Given the description of an element on the screen output the (x, y) to click on. 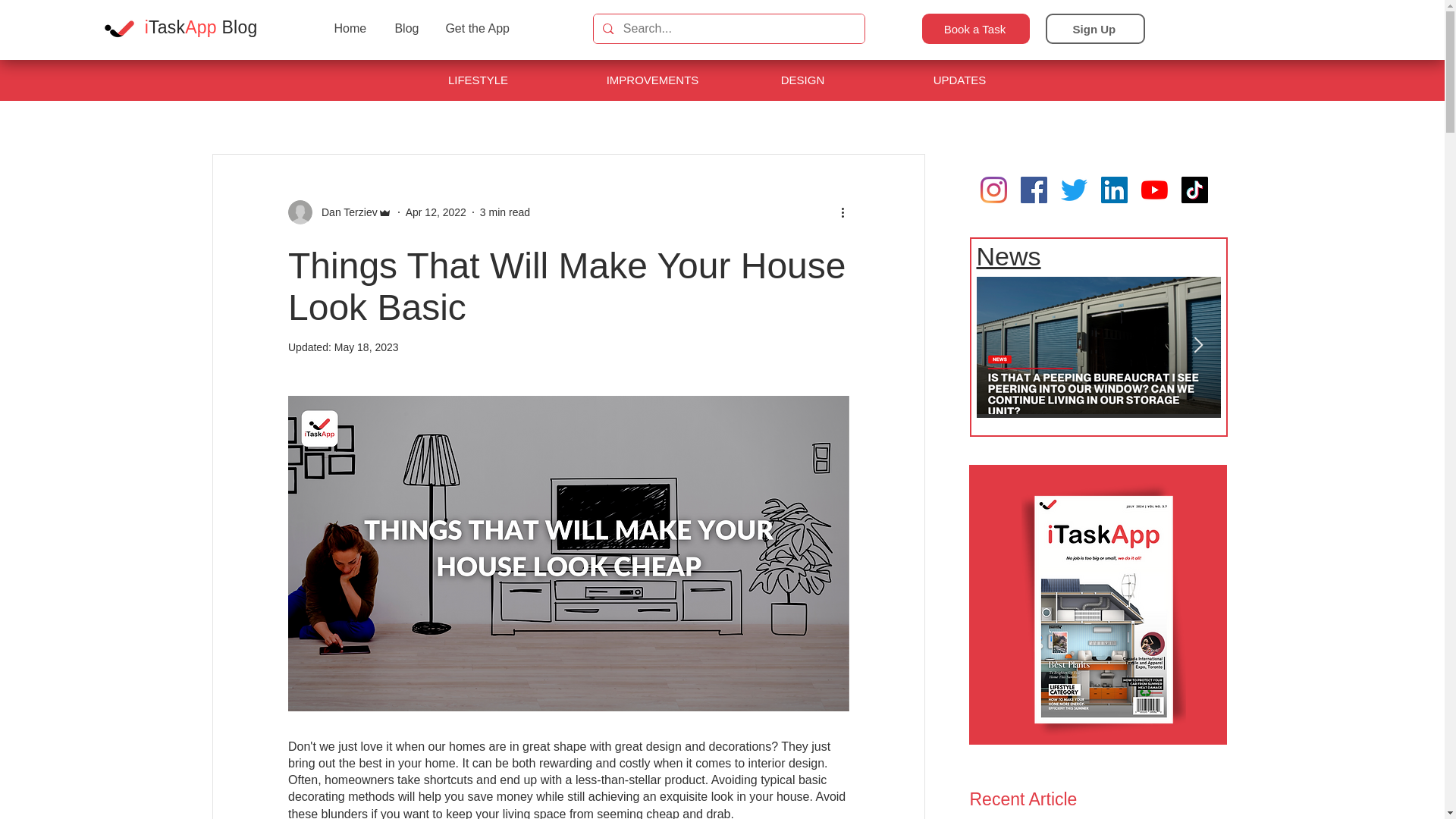
Book a Task (975, 28)
HT logo.png (119, 28)
IMPROVEMENTS (653, 80)
Sign Up (1094, 28)
Get the App (482, 29)
May 18, 2023 (366, 346)
DESIGN (805, 80)
Apr 12, 2022 (435, 212)
Dan Terziev (339, 211)
LIFESTYLE (480, 80)
UPDATES (960, 80)
iTaskApp Blog (200, 26)
Blog (406, 29)
Dan Terziev (345, 212)
Home (351, 29)
